Given the description of an element on the screen output the (x, y) to click on. 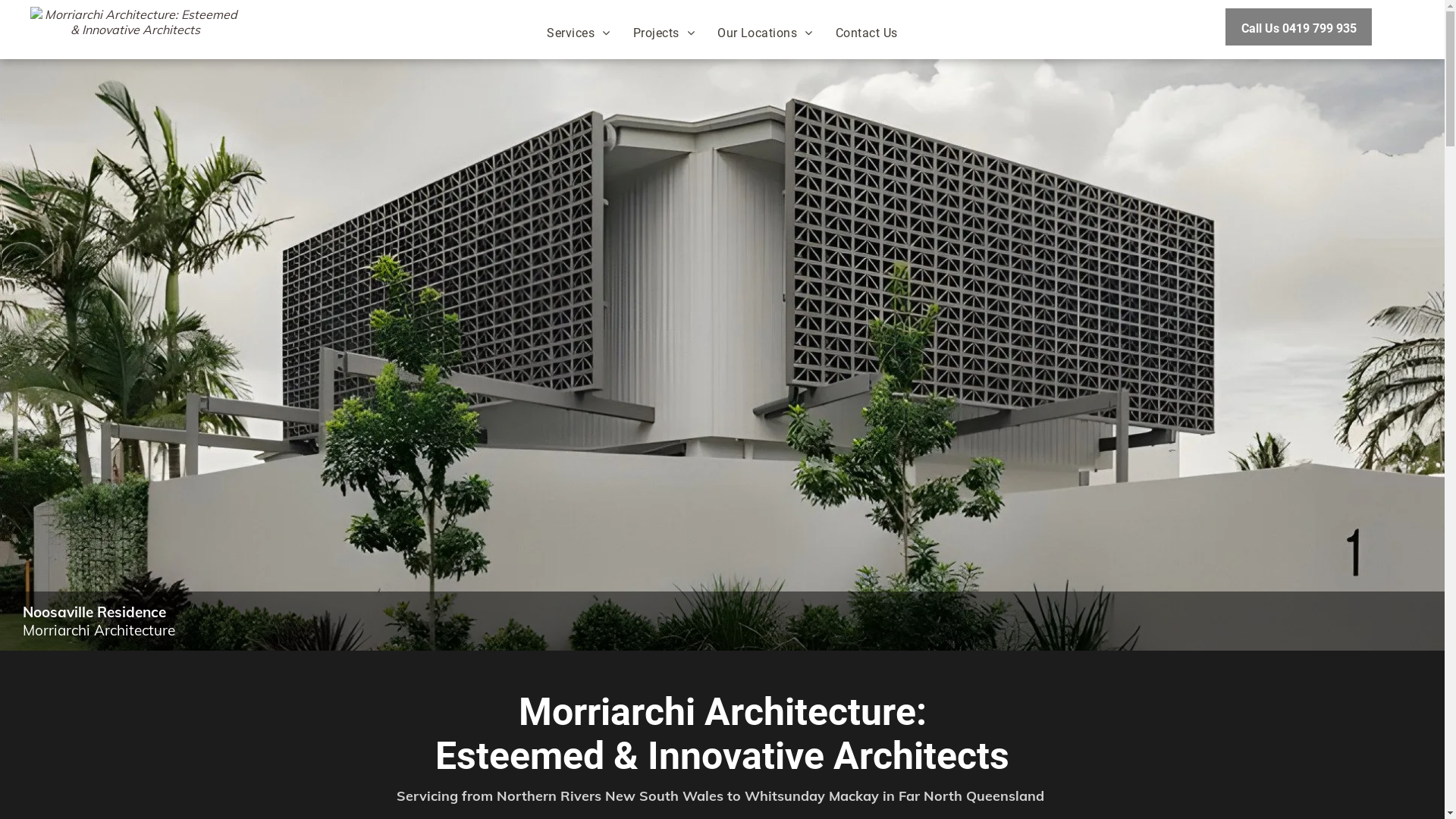
Call Us 0419 799 935 Element type: text (1298, 25)
Our Locations Element type: text (765, 32)
Services Element type: text (578, 32)
Contact Us Element type: text (866, 32)
Morriarchi Architecture: Esteemed & Innovative Architects Element type: hover (135, 27)
Projects Element type: text (663, 32)
